Given the description of an element on the screen output the (x, y) to click on. 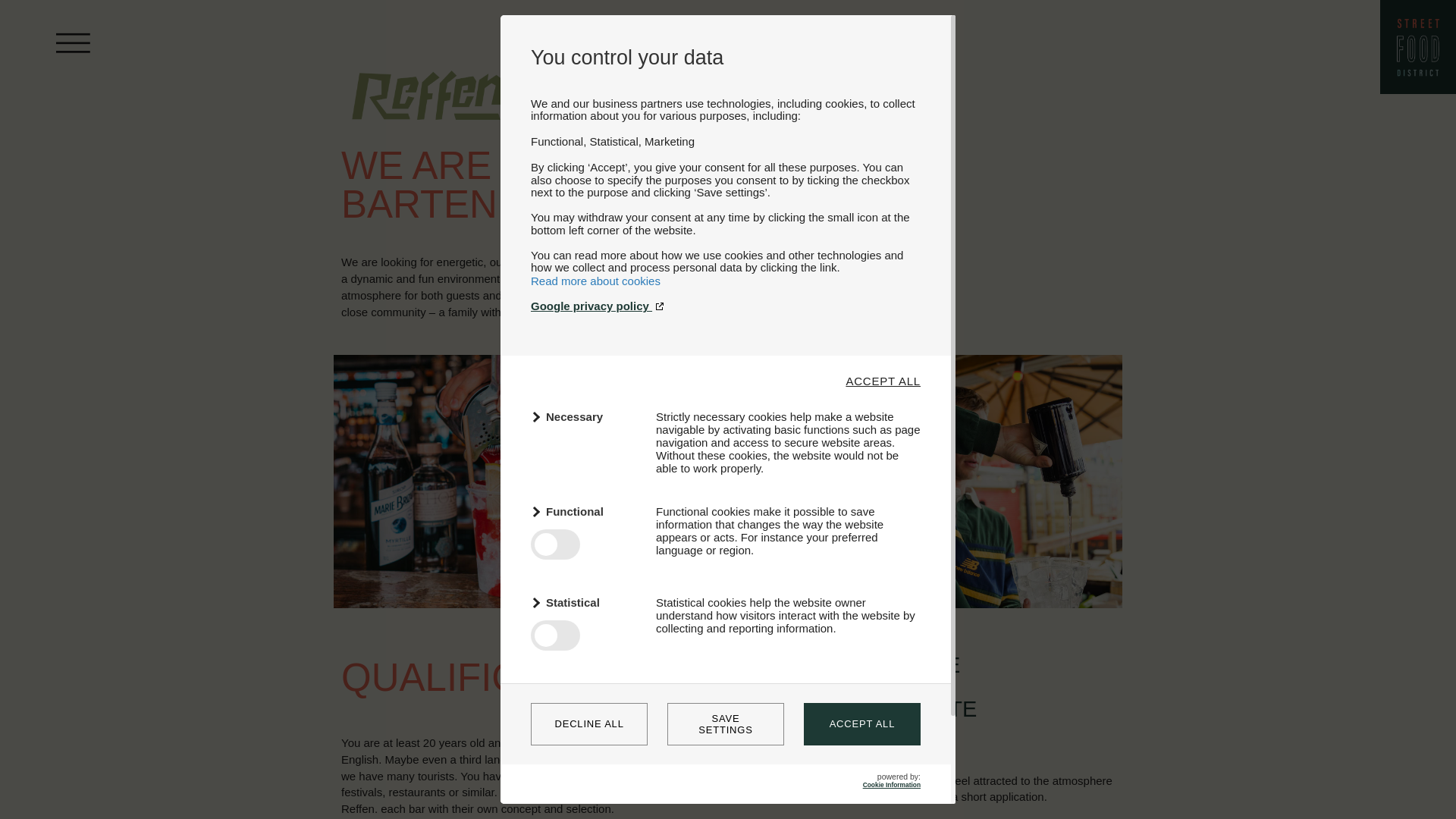
Cookie Information (891, 784)
DECLINE ALL (589, 723)
Functional (584, 511)
ACCEPT ALL (861, 723)
bartender (459, 480)
Necessary (584, 416)
Read more about cookies (596, 280)
Google privacy policy (725, 305)
ACCEPT ALL (882, 380)
Statistical (584, 602)
Marketing (584, 693)
SAVE SETTINGS (725, 723)
reffen (427, 111)
